Given the description of an element on the screen output the (x, y) to click on. 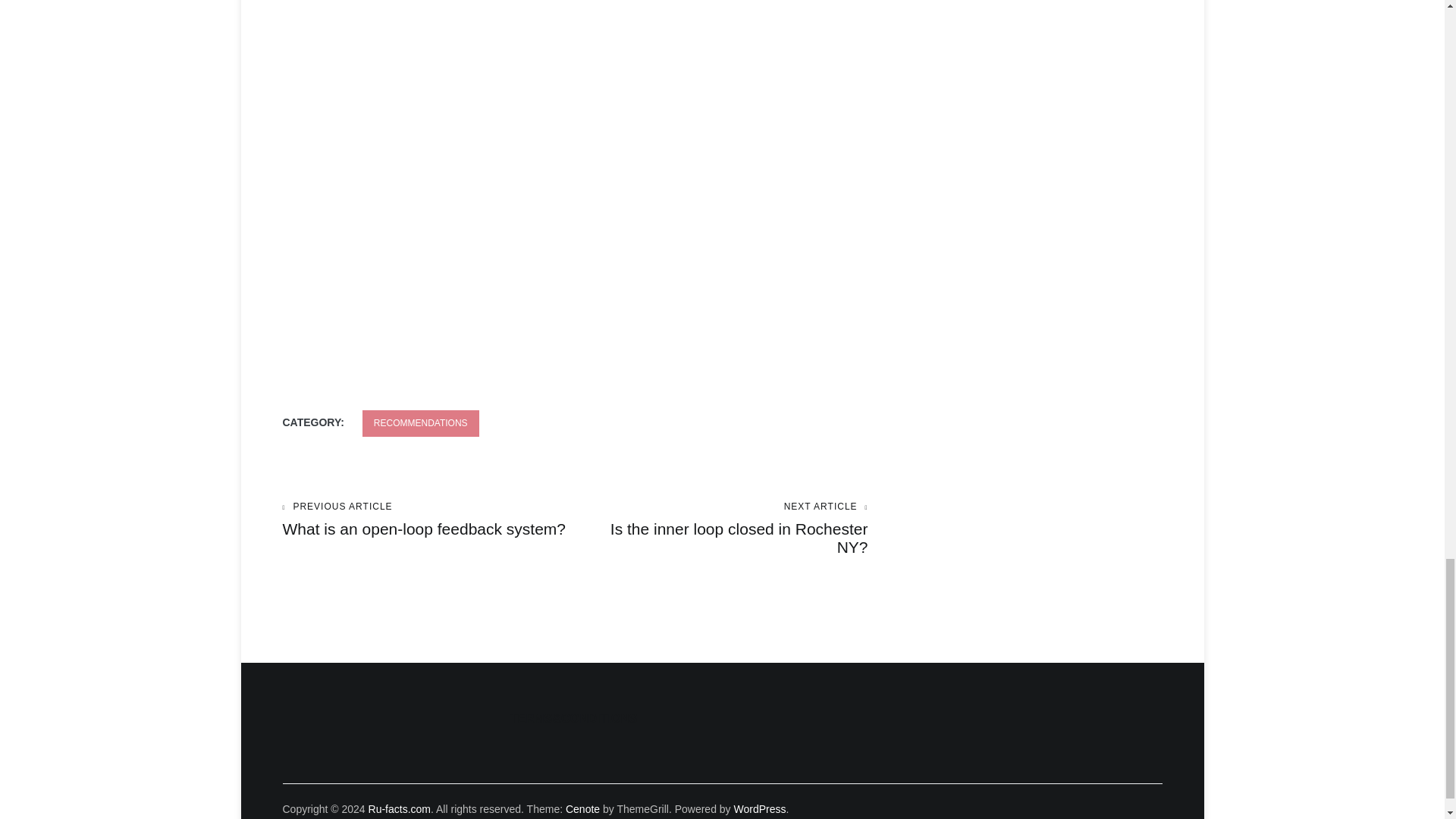
Ru-facts.com (428, 519)
RECOMMENDATIONS (399, 808)
